Given the description of an element on the screen output the (x, y) to click on. 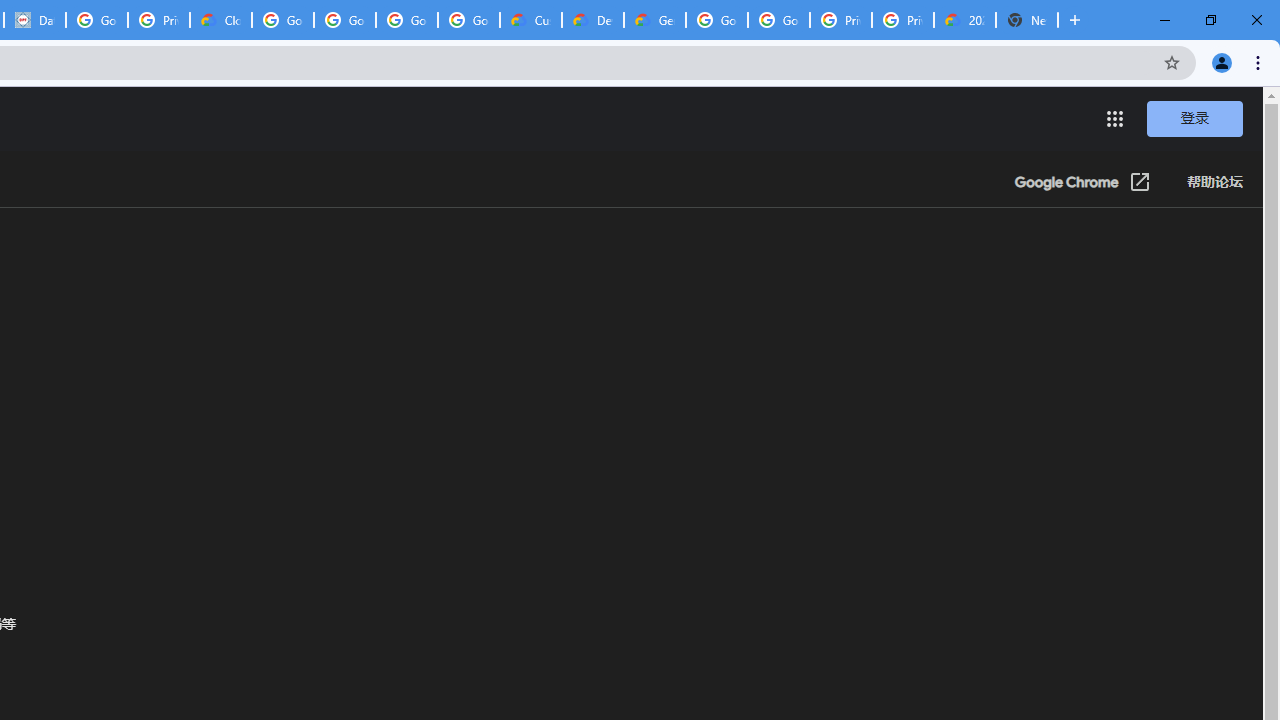
Google Workspace - Specific Terms (406, 20)
Google Cloud Platform (716, 20)
